Given the description of an element on the screen output the (x, y) to click on. 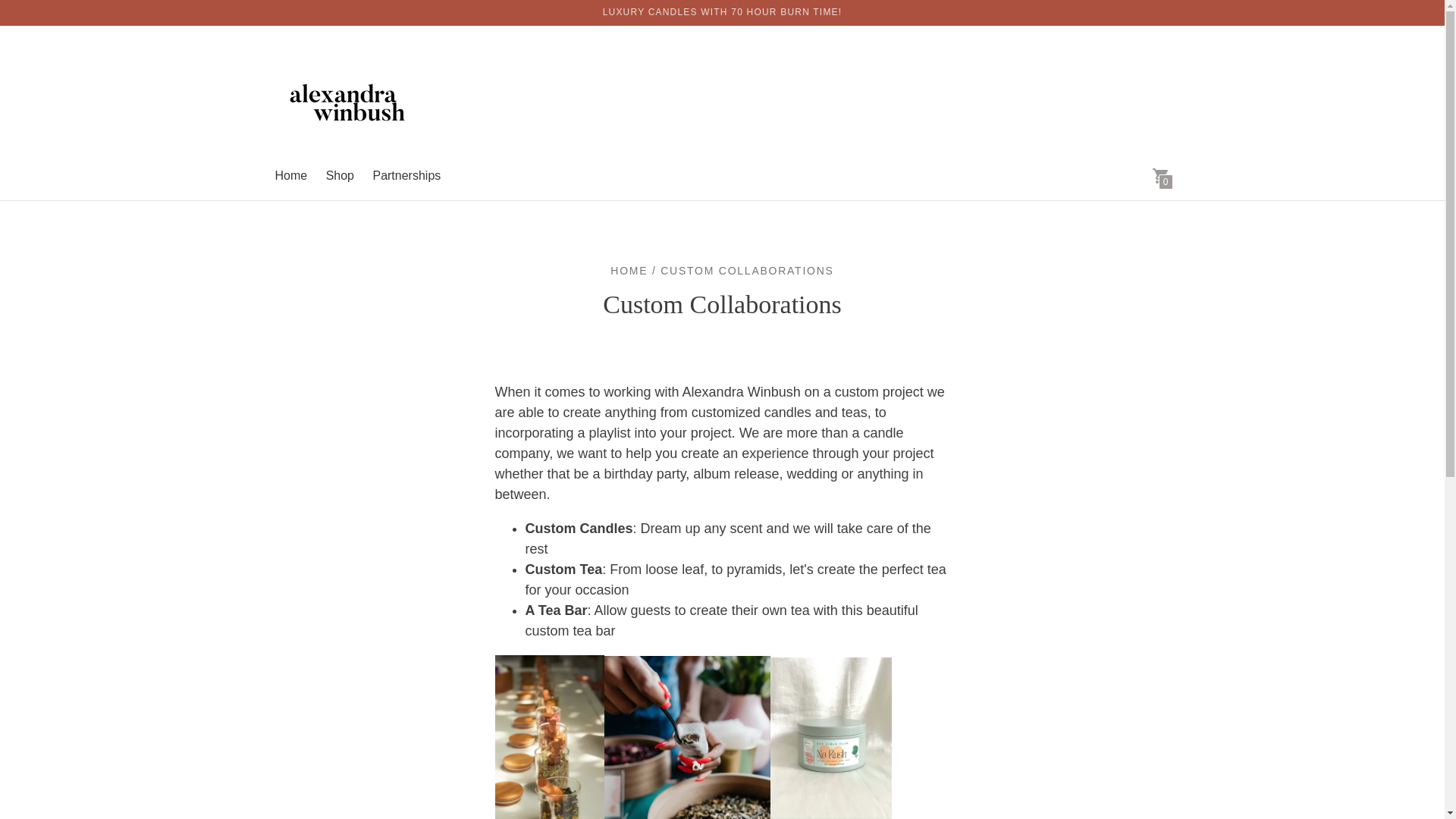
0 (1160, 174)
Shop (339, 174)
Partnerships (406, 174)
Home (291, 174)
